Given the description of an element on the screen output the (x, y) to click on. 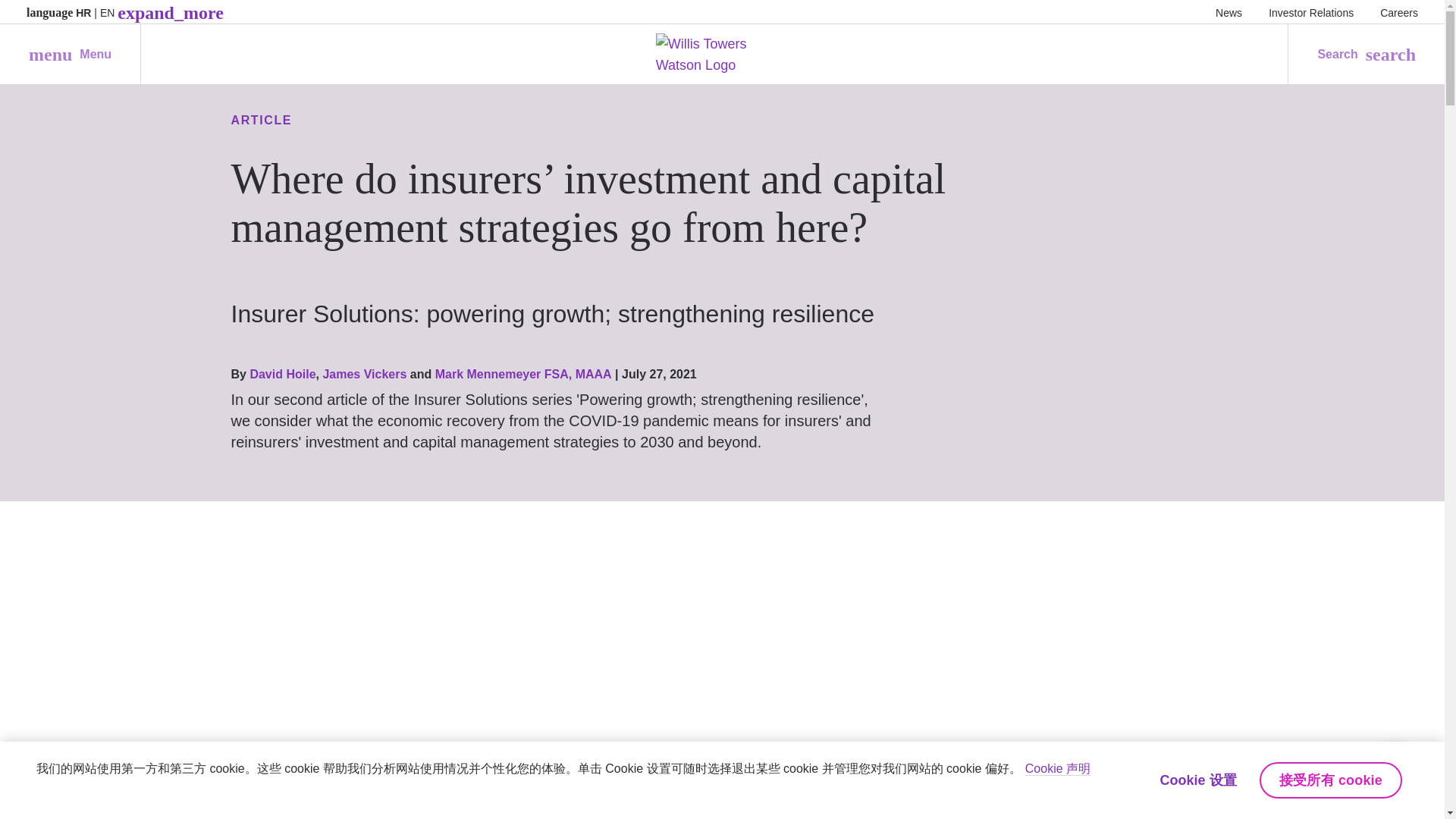
Investor Relations (1311, 12)
Careers (69, 54)
News (1399, 12)
